Given the description of an element on the screen output the (x, y) to click on. 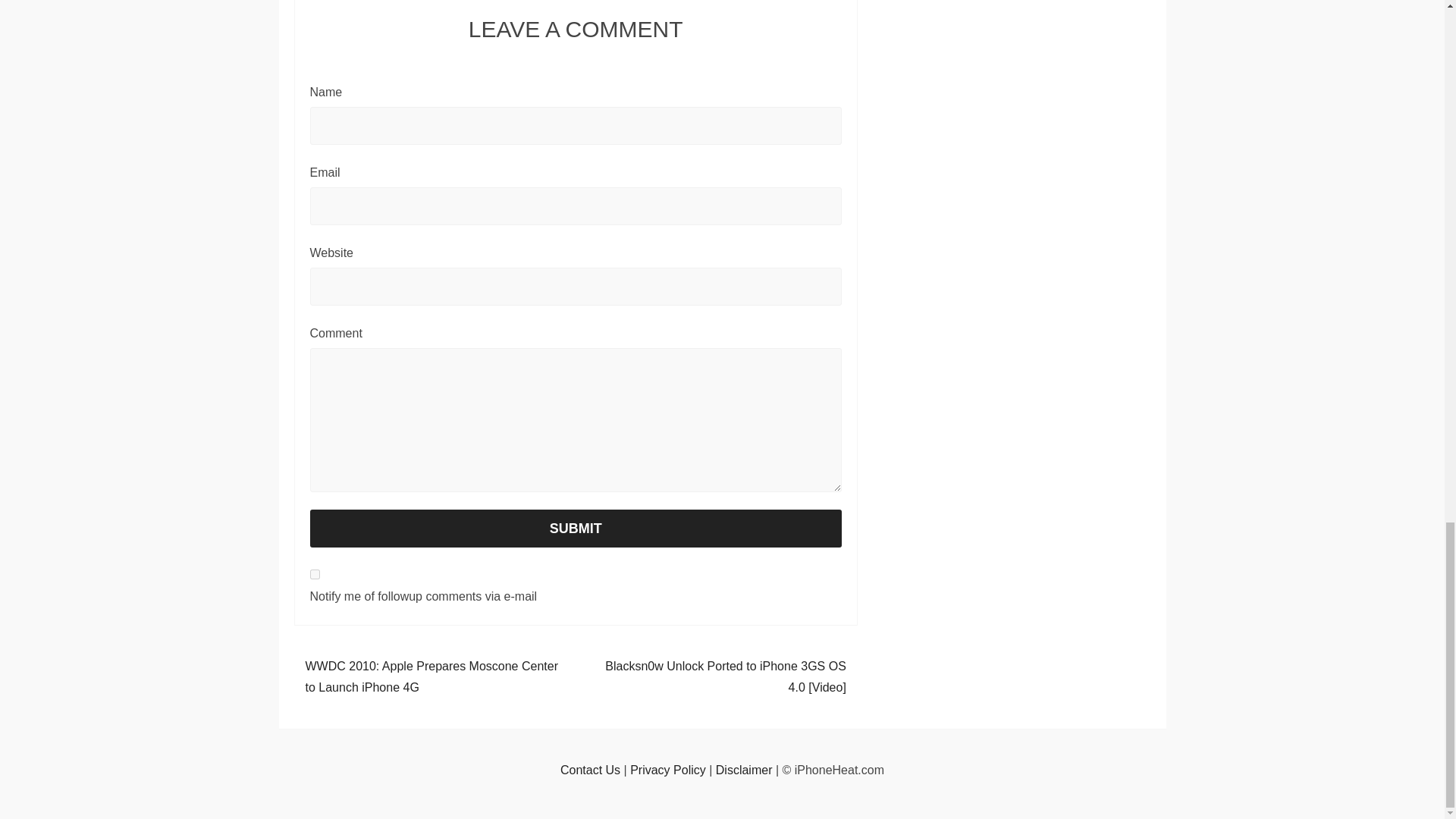
subscribe (313, 574)
Submit (574, 528)
